Given the description of an element on the screen output the (x, y) to click on. 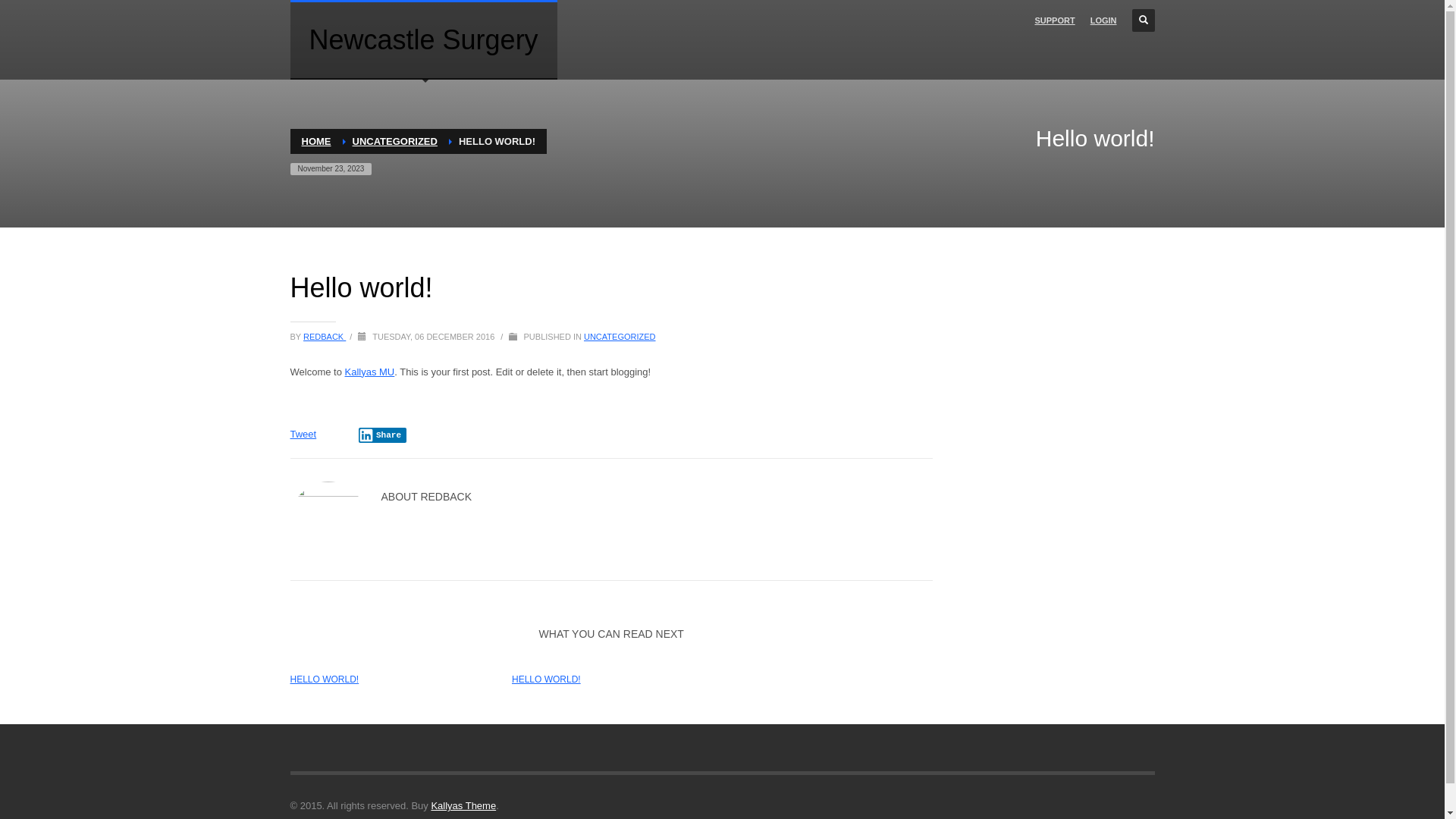
REDBACK Element type: text (324, 336)
HELLO WORLD! Element type: text (323, 679)
UNCATEGORIZED Element type: text (619, 336)
Newcastle Surgery Element type: text (422, 39)
SUPPORT Element type: text (1054, 20)
HOME Element type: text (316, 141)
HELLO WORLD! Element type: text (545, 679)
Kallyas Theme Element type: text (462, 805)
Kallyas MU Element type: text (370, 371)
Share Element type: text (381, 434)
UNCATEGORIZED Element type: text (393, 141)
LOGIN Element type: text (1103, 20)
Tweet Element type: text (302, 433)
